Given the description of an element on the screen output the (x, y) to click on. 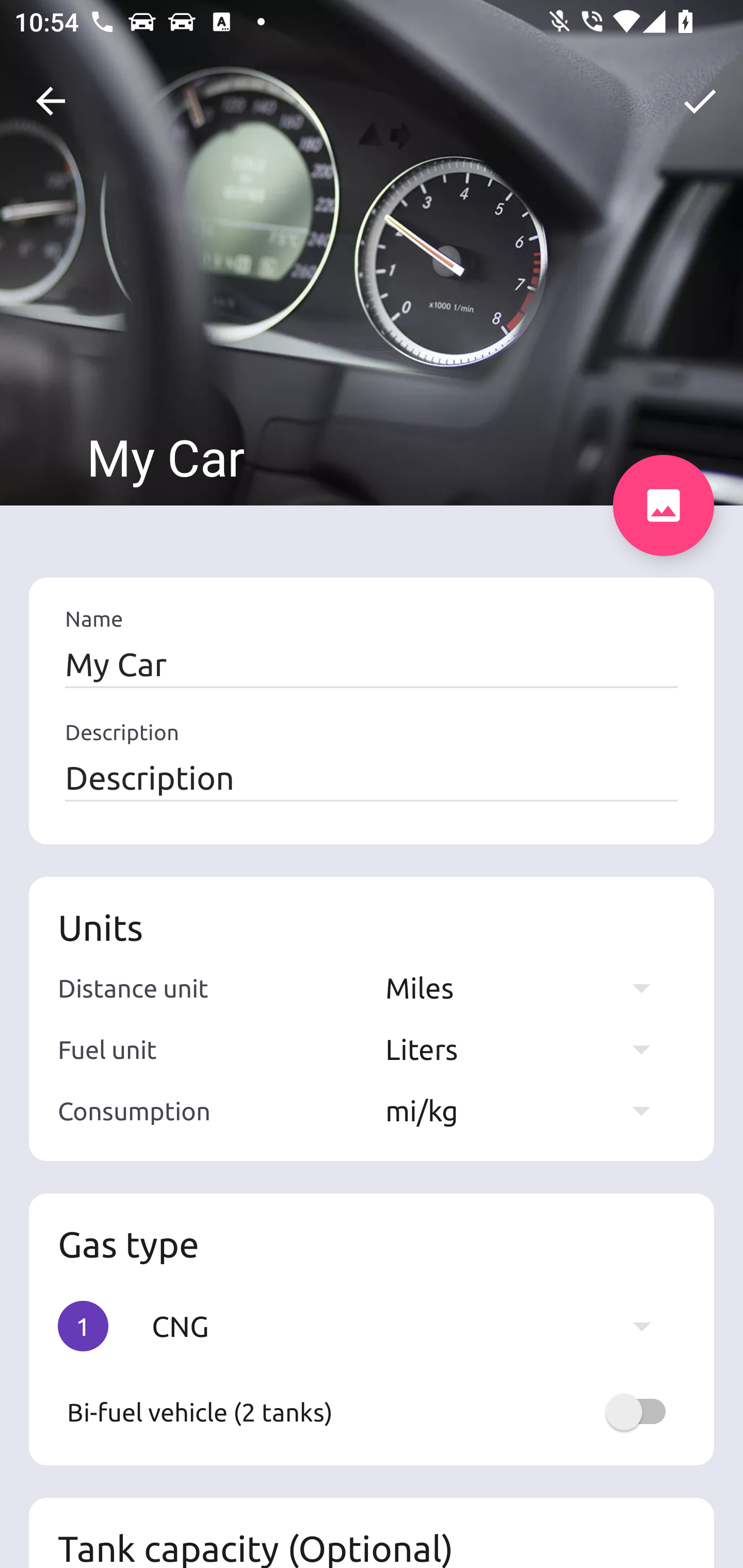
Navigate up (50, 101)
OK (699, 101)
My Car (371, 664)
Description (371, 777)
Miles (527, 987)
Liters (527, 1048)
mi/kg (527, 1110)
CNG (411, 1325)
Bi-fuel vehicle (2 tanks) (371, 1411)
